Given the description of an element on the screen output the (x, y) to click on. 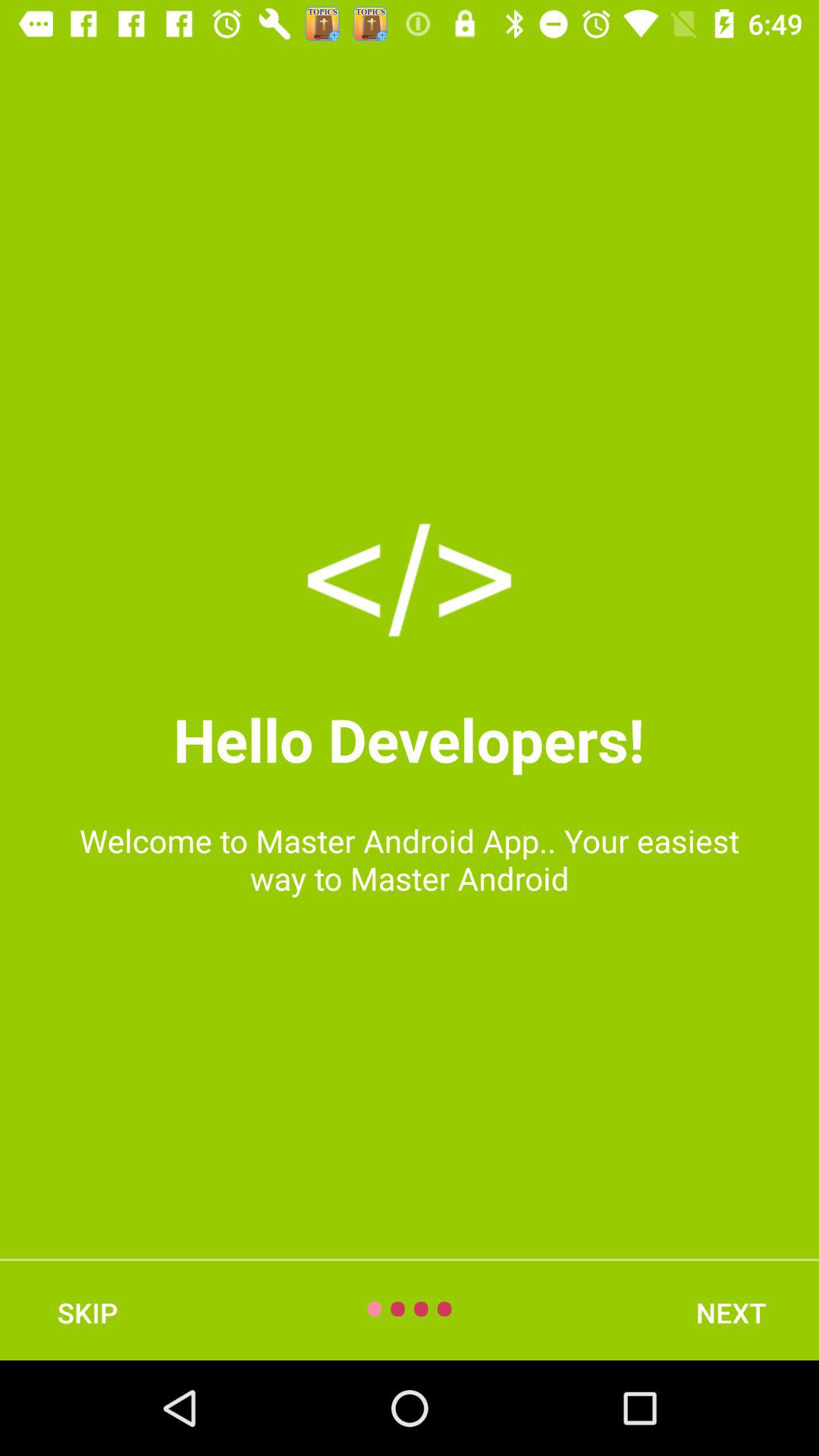
click icon at the bottom right corner (731, 1312)
